Given the description of an element on the screen output the (x, y) to click on. 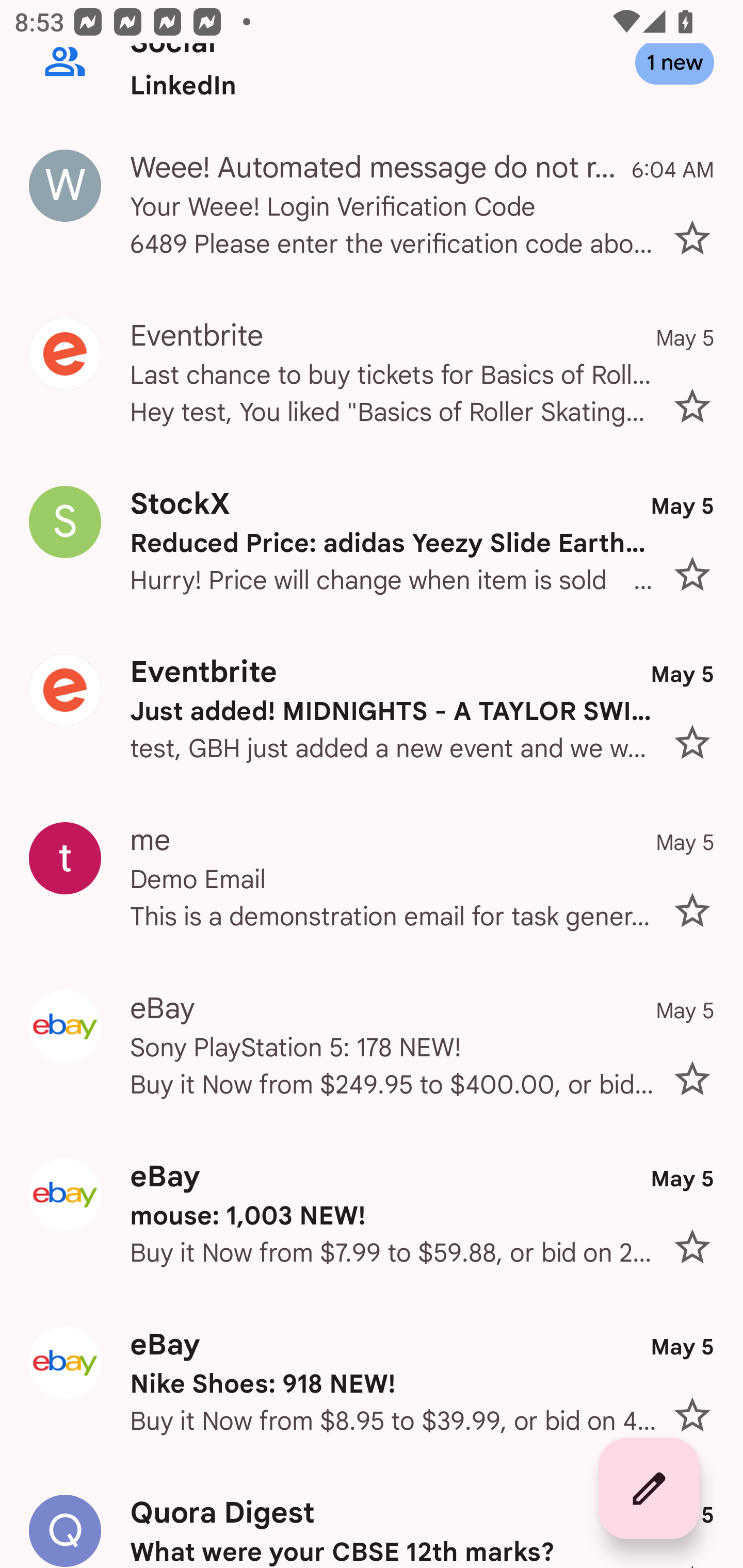
Social LinkedIn 1 new (371, 81)
Compose (648, 1488)
